Given the description of an element on the screen output the (x, y) to click on. 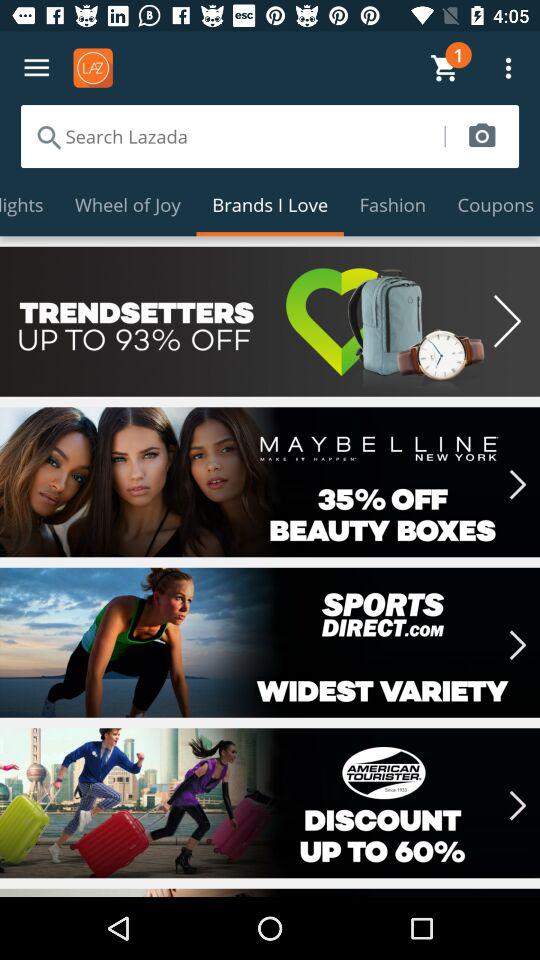
opens offer for shopping (270, 482)
